Given the description of an element on the screen output the (x, y) to click on. 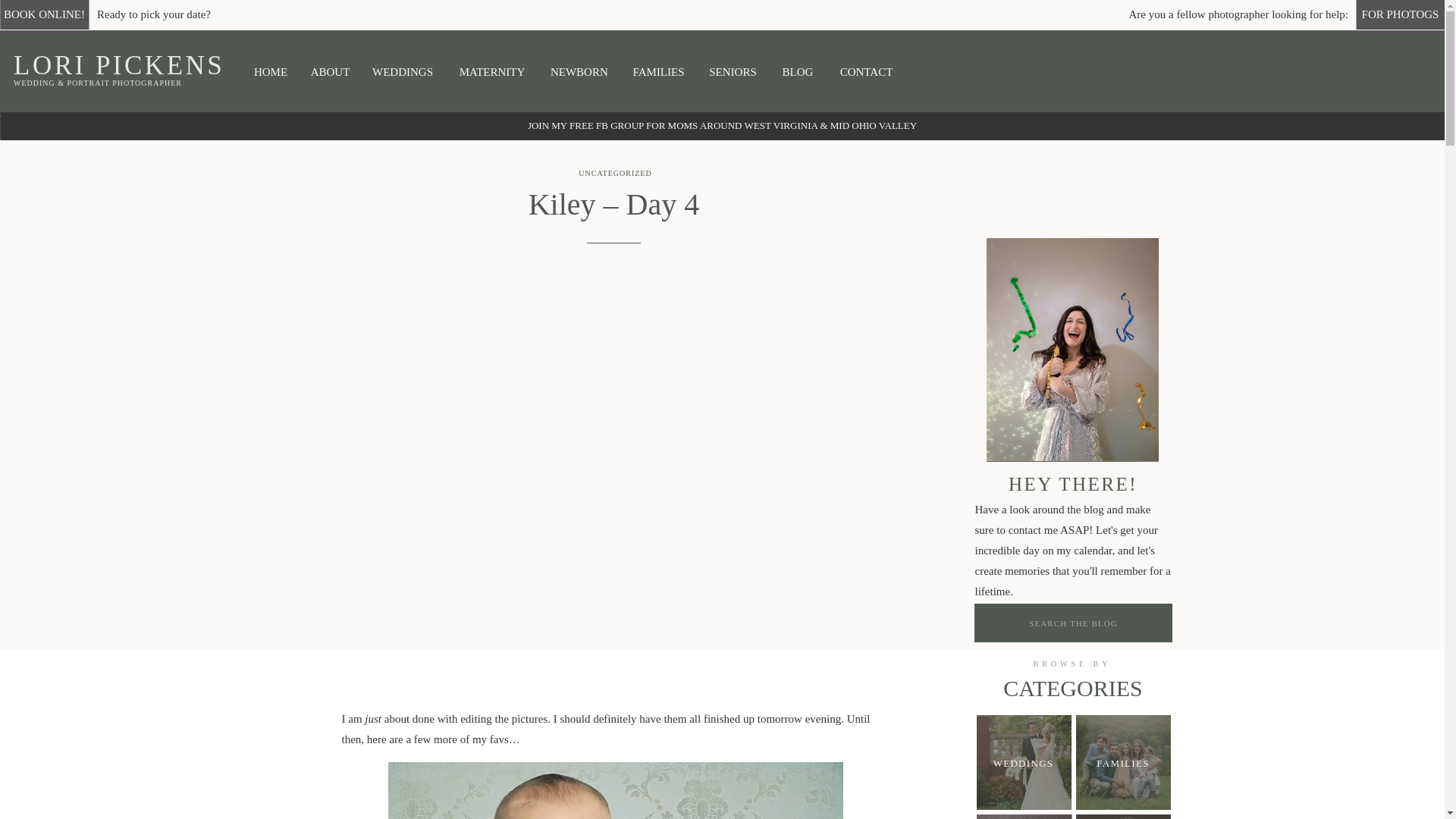
HOME (270, 72)
BLOG (797, 71)
FAMILIES (658, 72)
ABOUT (330, 71)
 NEWBORN (577, 72)
SENIORS (732, 72)
BOOK ONLINE! (44, 13)
MATERNITY (491, 72)
WEDDINGS (402, 72)
CONTACT (865, 71)
LORI PICKENS (130, 64)
Ready to pick your date?  (158, 13)
WEDDINGS (1023, 762)
FAMILIES (1123, 763)
